Given the description of an element on the screen output the (x, y) to click on. 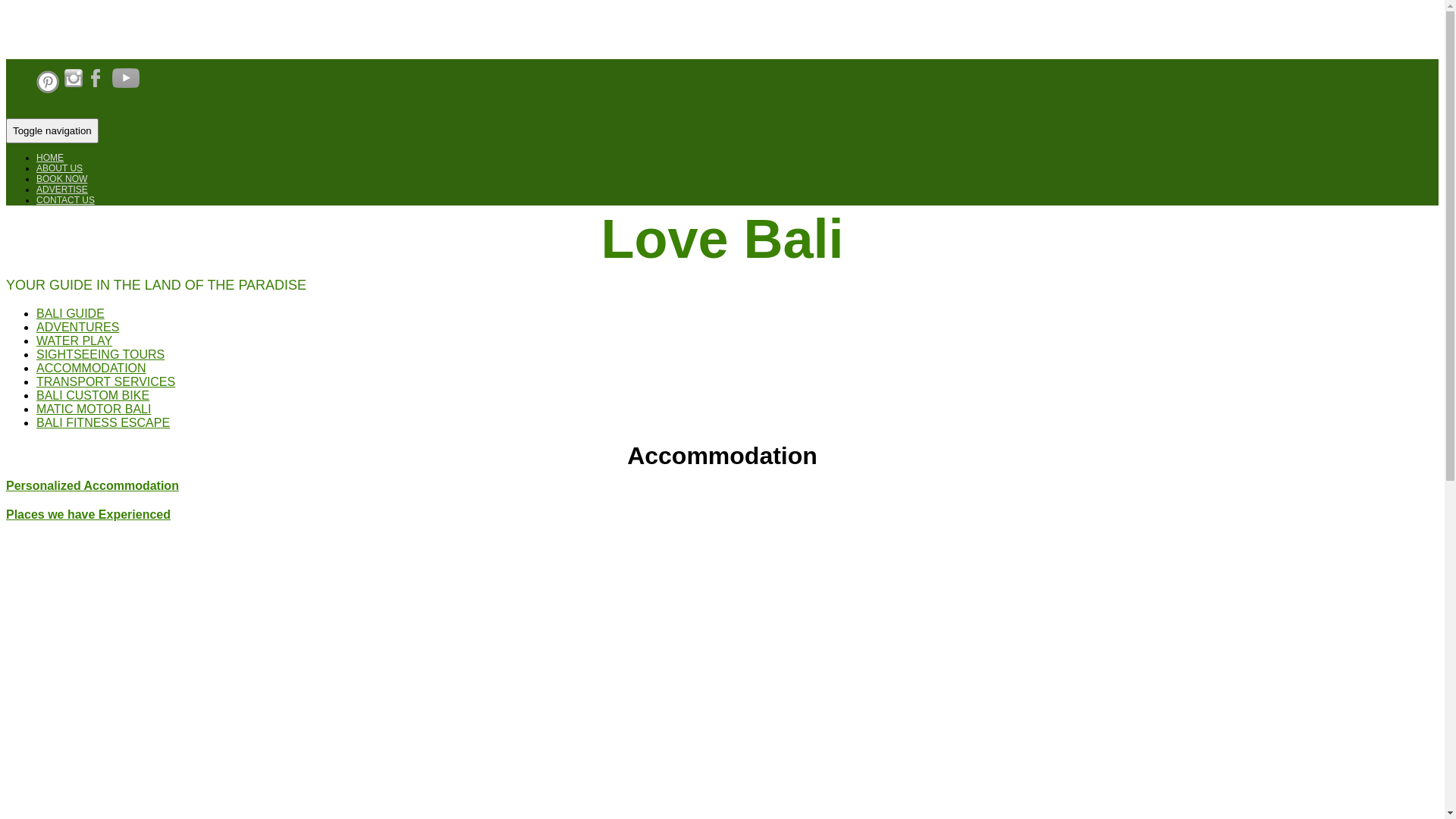
BALI FITNESS ESCAPE Element type: text (102, 422)
TRANSPORT SERVICES Element type: text (105, 381)
Toggle navigation Element type: text (52, 130)
Open Youtube Element type: hover (125, 89)
ADVERTISE Element type: text (61, 189)
WATER PLAY Element type: text (74, 340)
HOME Element type: text (49, 157)
Open FaceBook Element type: hover (97, 89)
ACCOMMODATION Element type: text (91, 367)
BALI CUSTOM BIKE Element type: text (92, 395)
MATIC MOTOR BALI Element type: text (93, 408)
Open Pinterest Element type: hover (47, 89)
CONTACT US Element type: text (65, 199)
ABOUT US Element type: text (59, 168)
SIGHTSEEING TOURS Element type: text (100, 354)
Open Instagram Element type: hover (73, 89)
Personalized Accommodation Element type: text (92, 485)
ADVENTURES Element type: text (77, 326)
Places we have Experienced Element type: text (88, 514)
BALI GUIDE Element type: text (70, 313)
BOOK NOW Element type: text (61, 178)
